Given the description of an element on the screen output the (x, y) to click on. 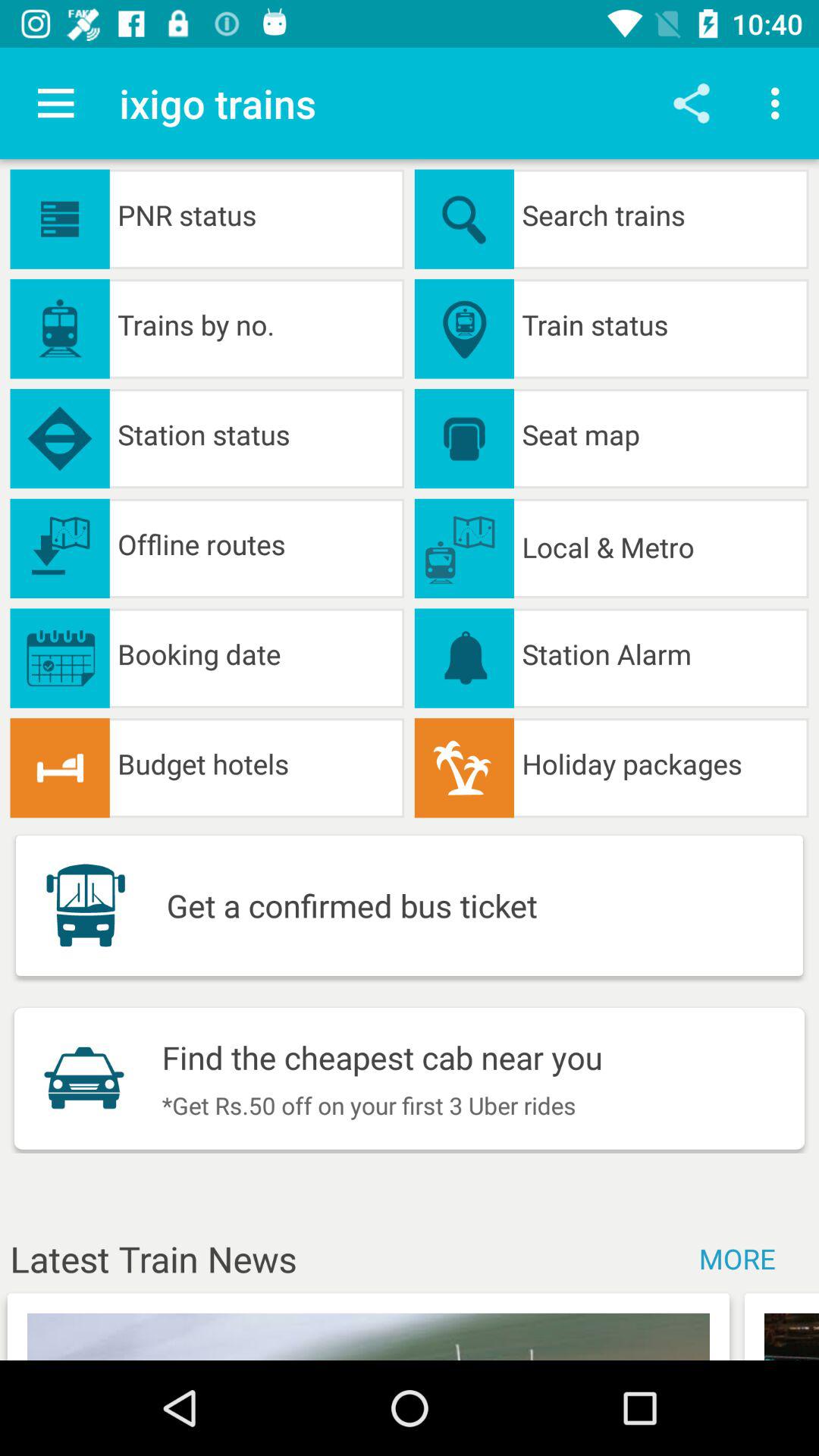
share information (691, 103)
